Given the description of an element on the screen output the (x, y) to click on. 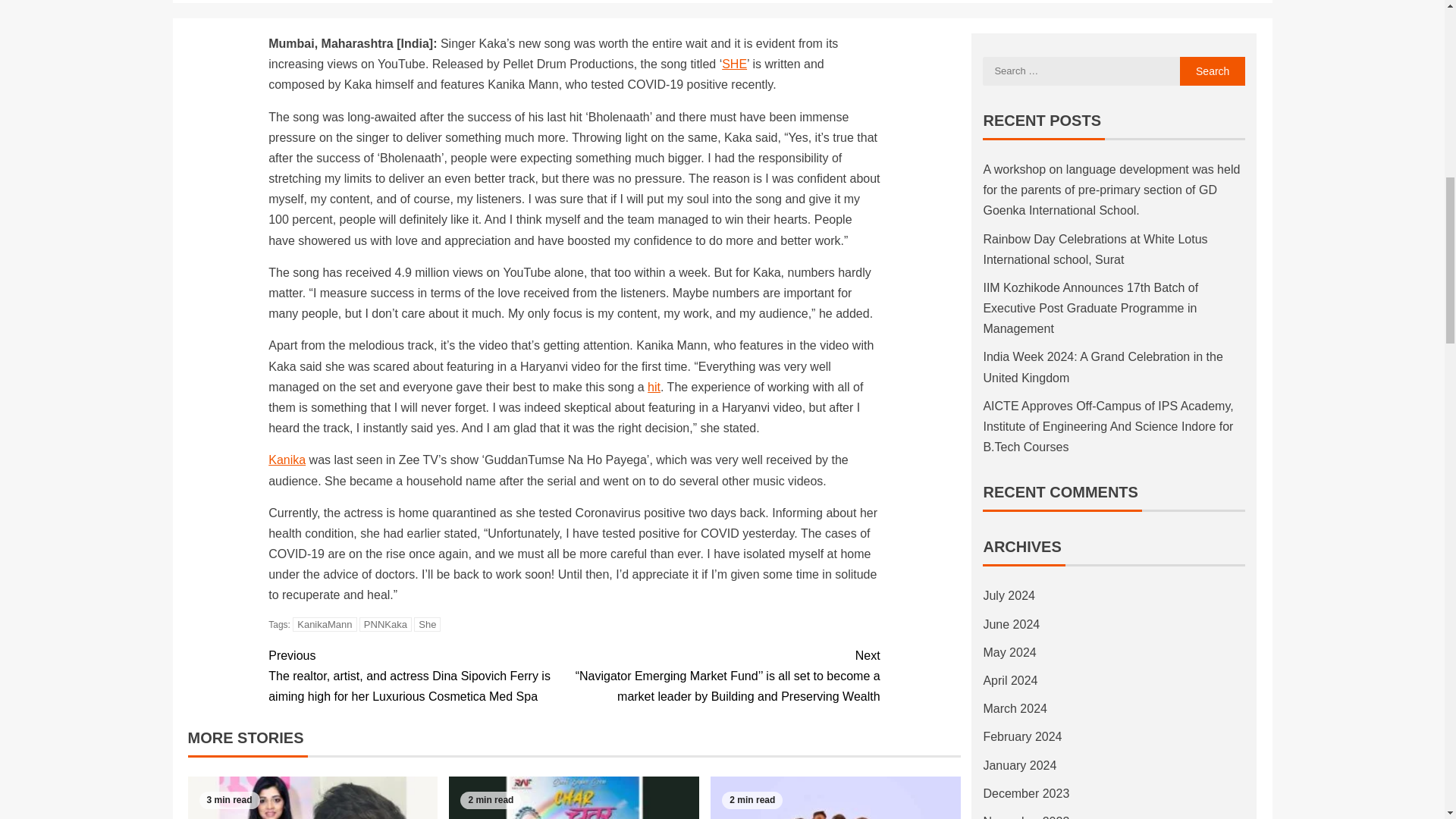
Search (1212, 70)
Search (1212, 70)
